Given the description of an element on the screen output the (x, y) to click on. 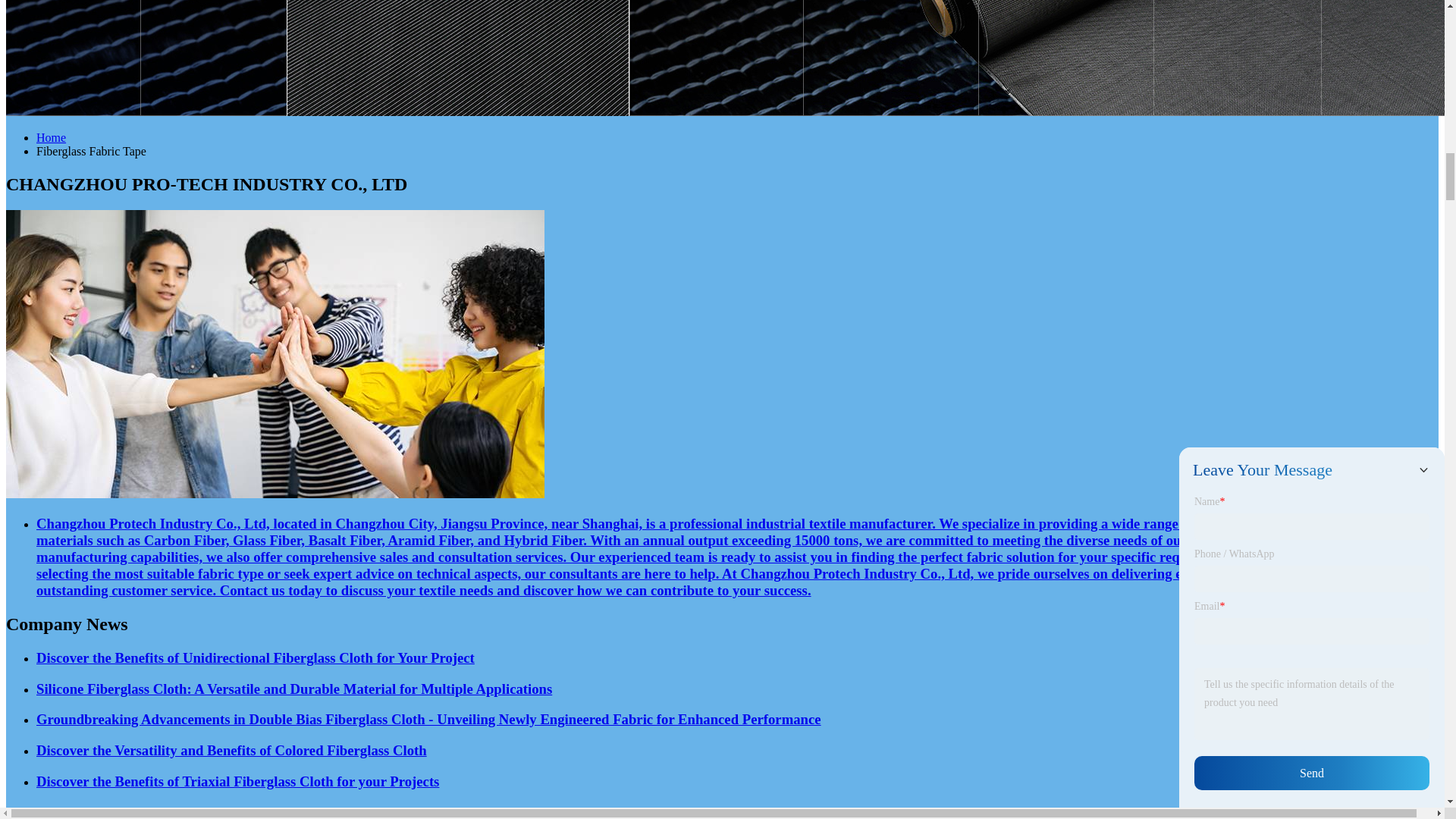
Home (50, 137)
